Given the description of an element on the screen output the (x, y) to click on. 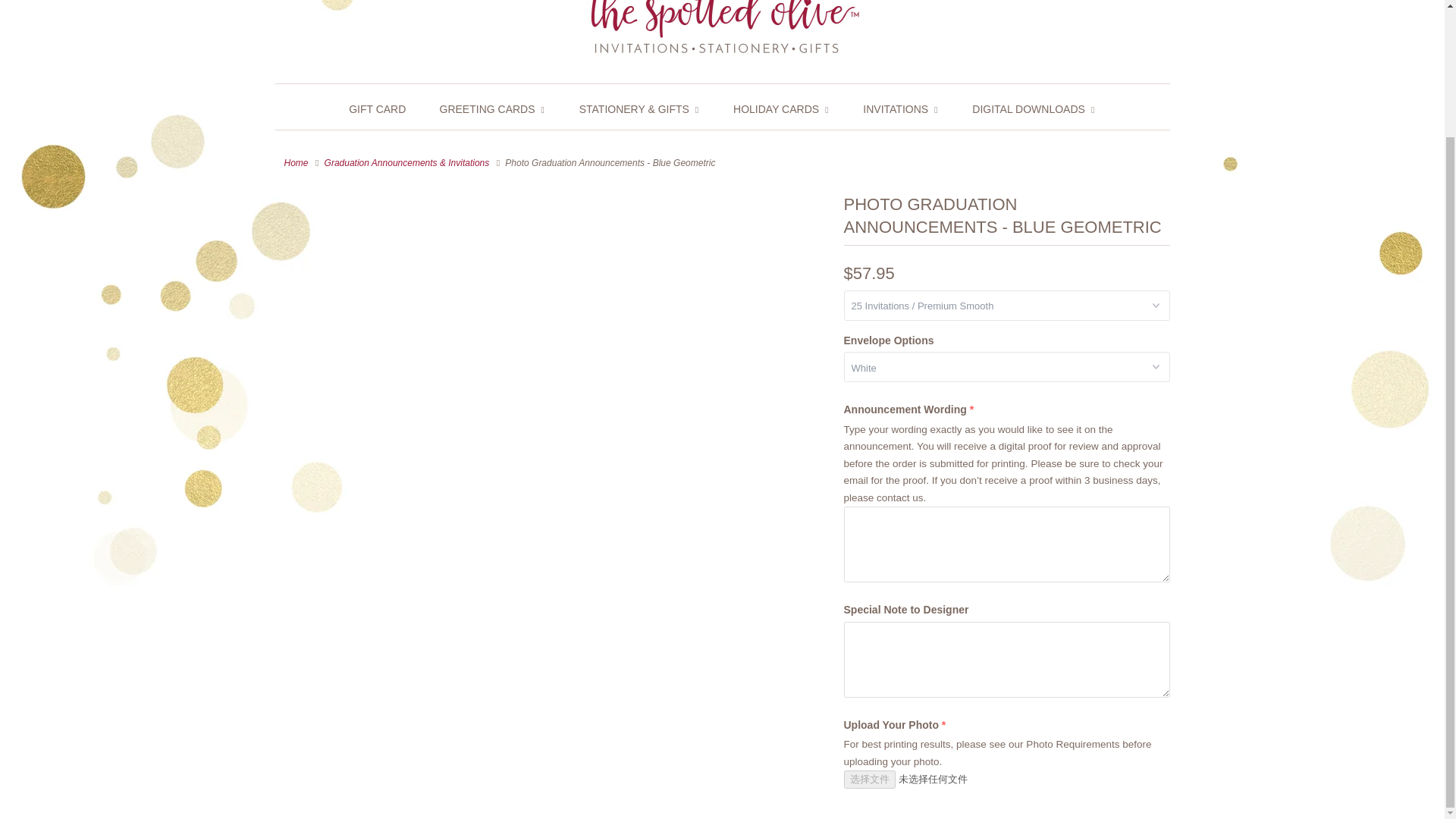
GIFT CARD (377, 108)
INVITATIONS (901, 108)
HOLIDAY CARDS (781, 108)
GREETING CARDS (492, 108)
The Spotted Olive (295, 162)
The Spotted Olive (722, 33)
